Given the description of an element on the screen output the (x, y) to click on. 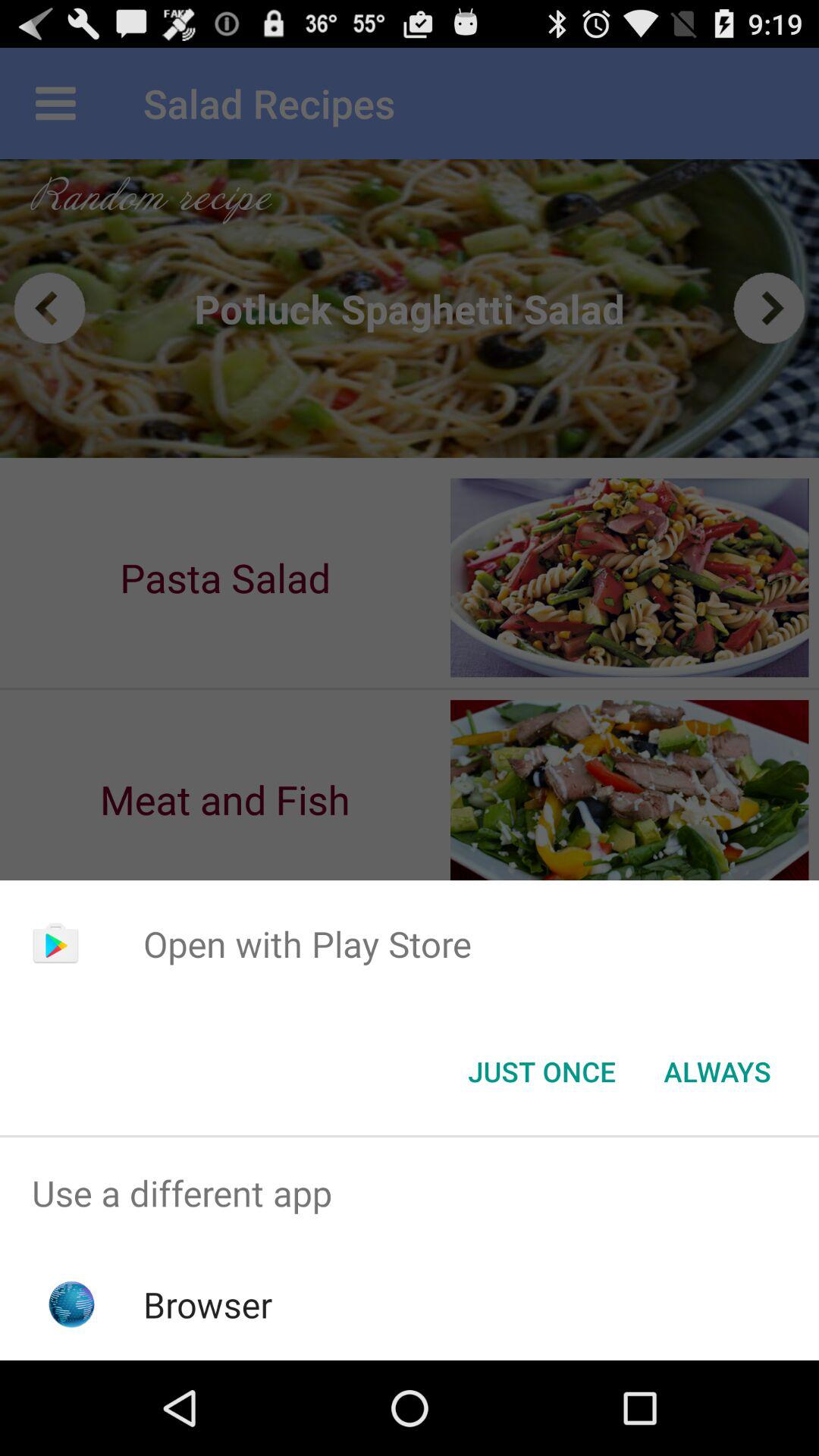
tap app below the open with play (717, 1071)
